Given the description of an element on the screen output the (x, y) to click on. 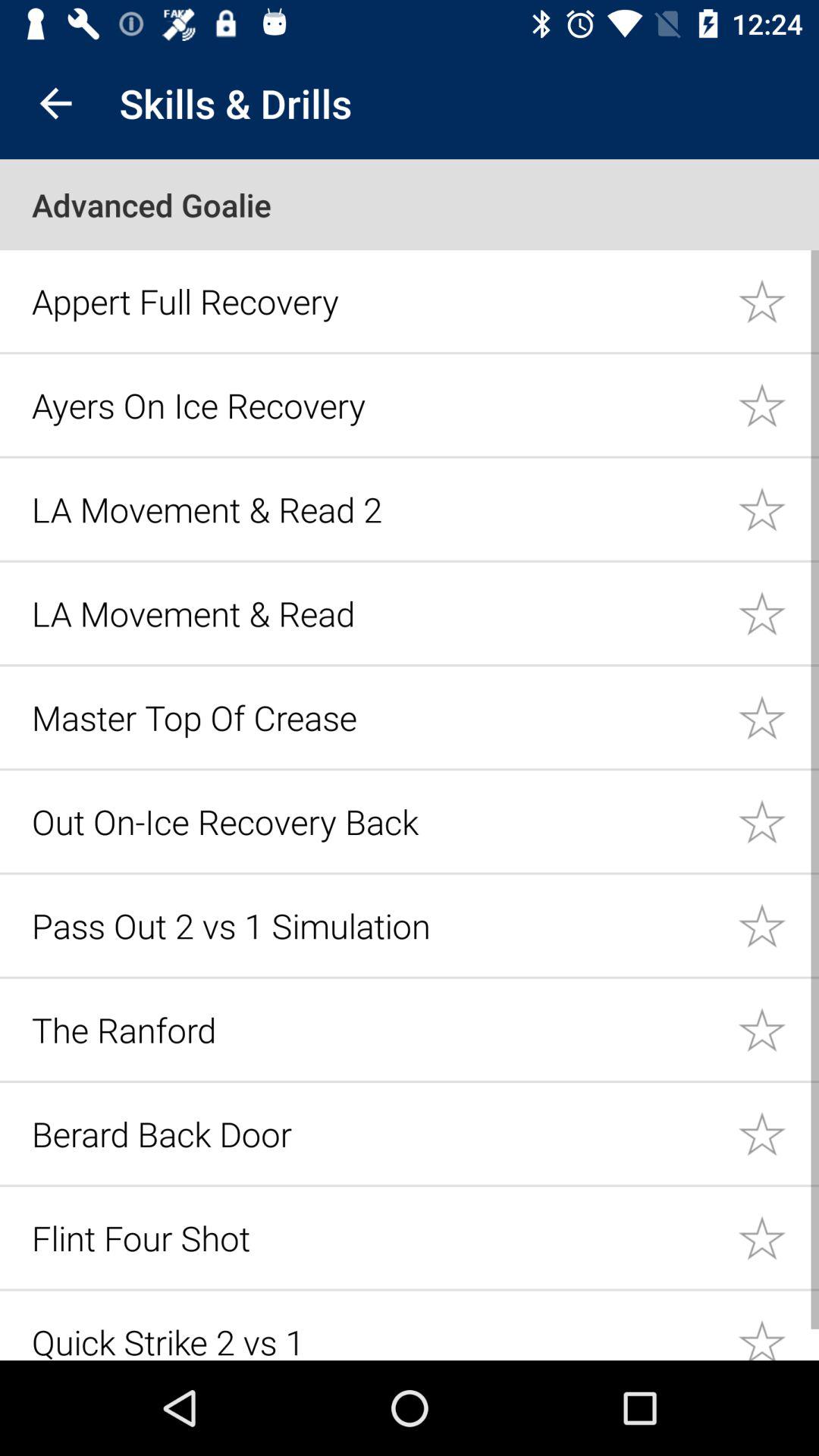
select the item below out on ice (376, 925)
